Given the description of an element on the screen output the (x, y) to click on. 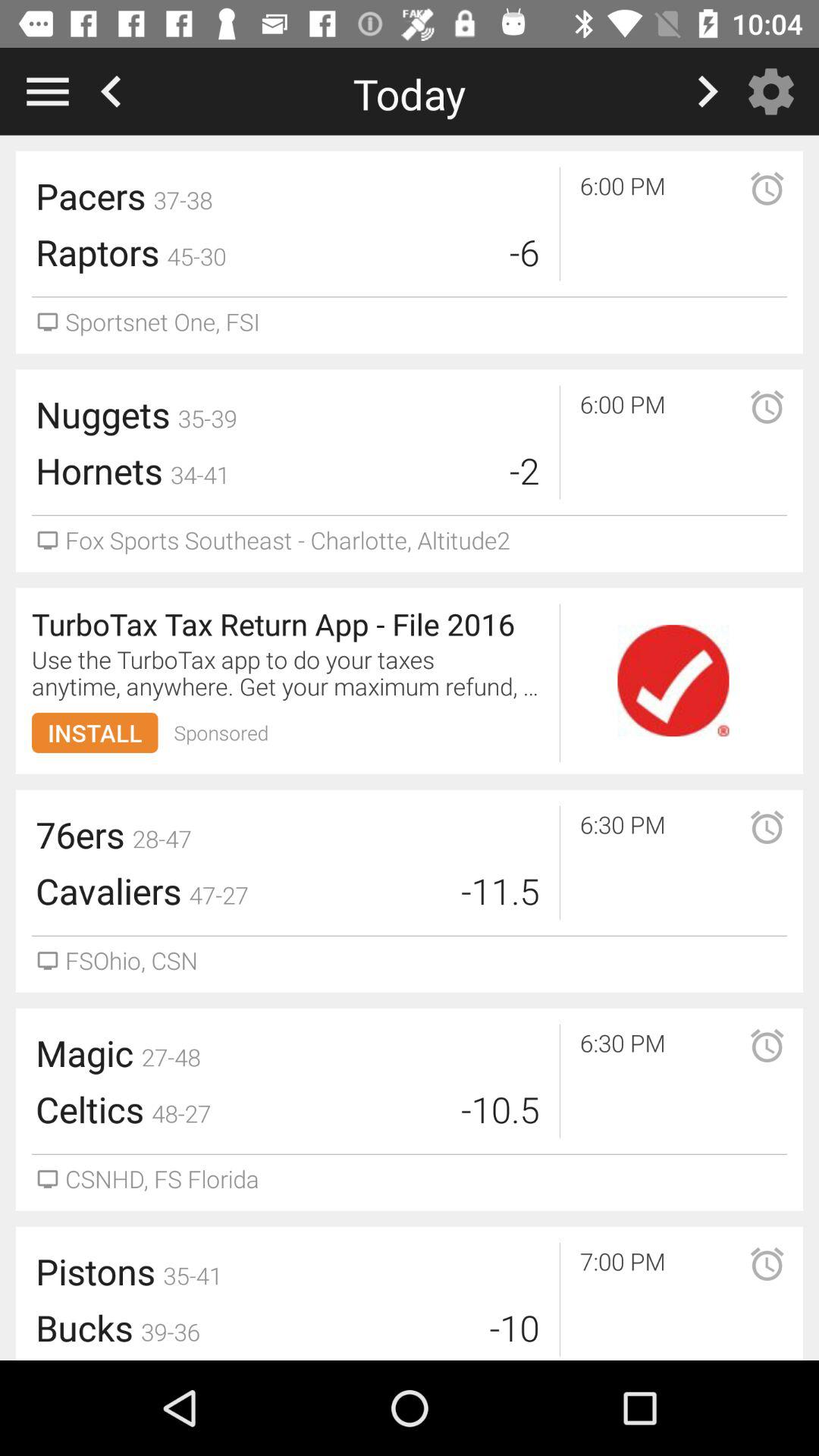
open item to the right of today item (775, 91)
